Given the description of an element on the screen output the (x, y) to click on. 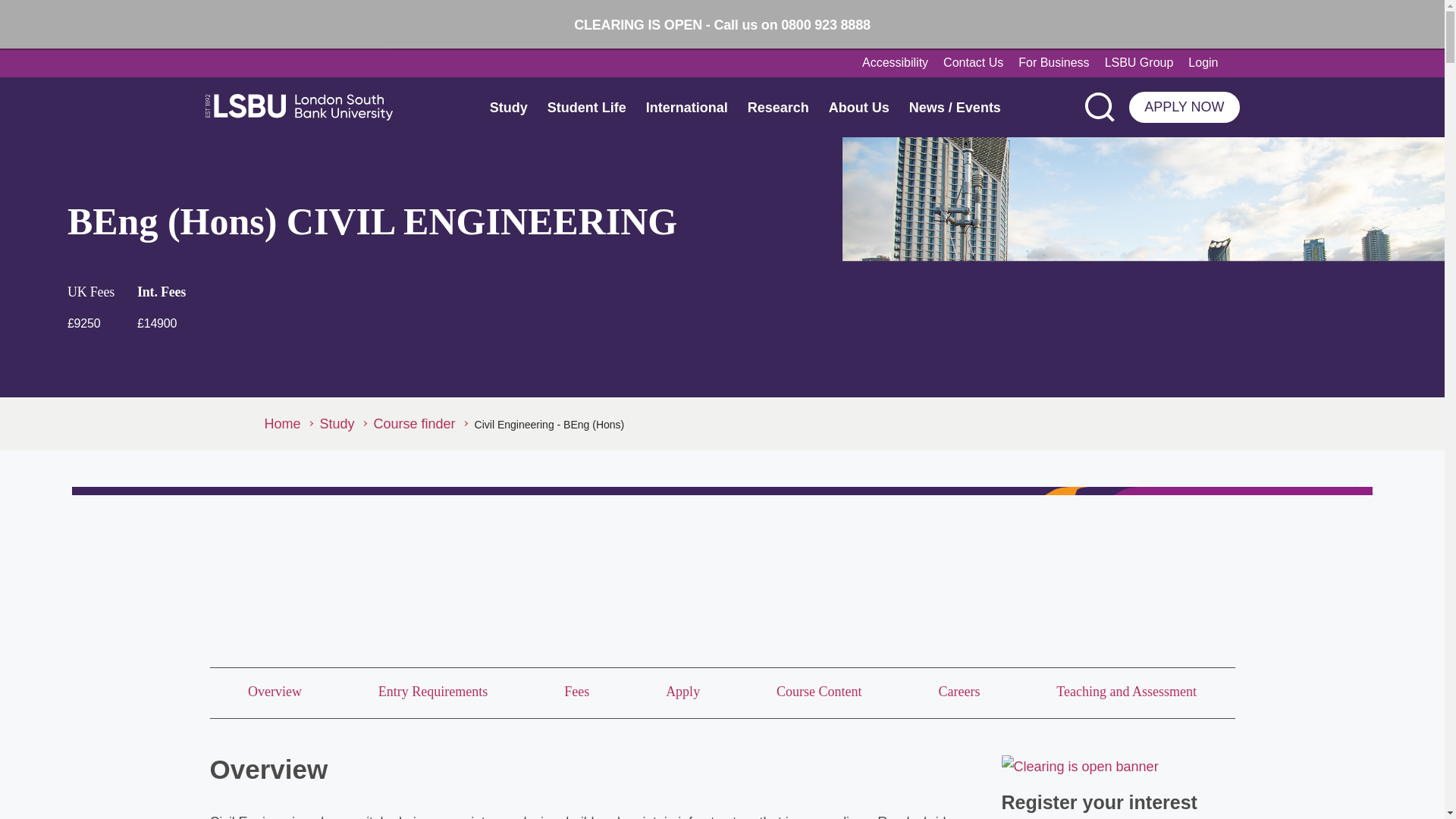
Go to Course finder (420, 423)
Contact Us (973, 62)
Go to Home (287, 423)
Login (1210, 62)
LSBU Group (1138, 62)
For Business (1053, 62)
Go to Study (343, 423)
Call us on 0800 923 8888 (791, 24)
Accessibility (895, 62)
Study (508, 106)
